Given the description of an element on the screen output the (x, y) to click on. 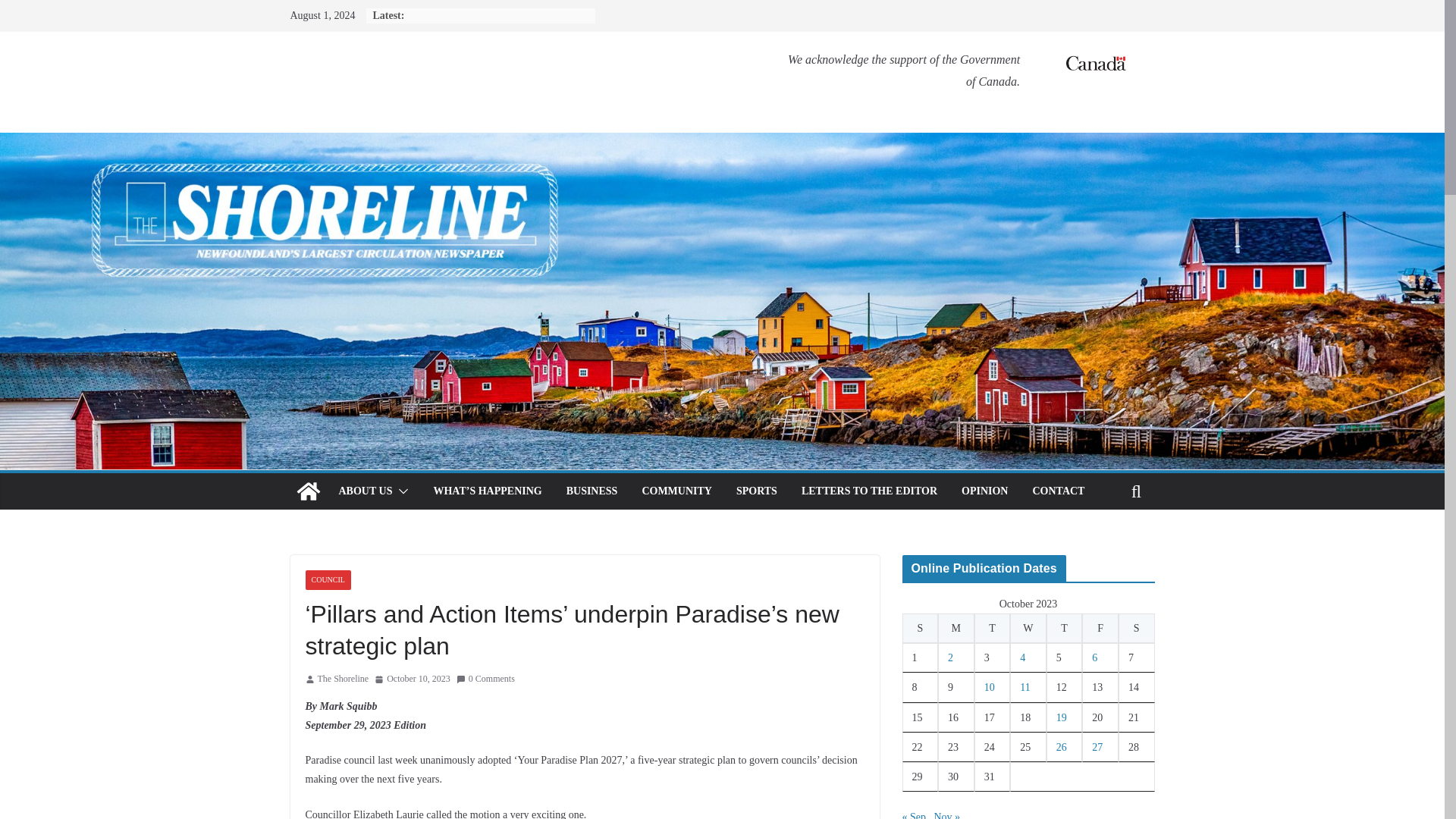
26 (1062, 747)
ABOUT US (364, 491)
OPINION (983, 491)
Wednesday (1028, 627)
Thursday (1064, 627)
The Shoreline (342, 678)
October 10, 2023 (411, 678)
27 (1097, 747)
COUNCIL (327, 579)
The Shoreline News (307, 491)
0 Comments (486, 678)
CONTACT (1058, 491)
COMMUNITY (676, 491)
SPORTS (756, 491)
Tuesday (992, 627)
